Given the description of an element on the screen output the (x, y) to click on. 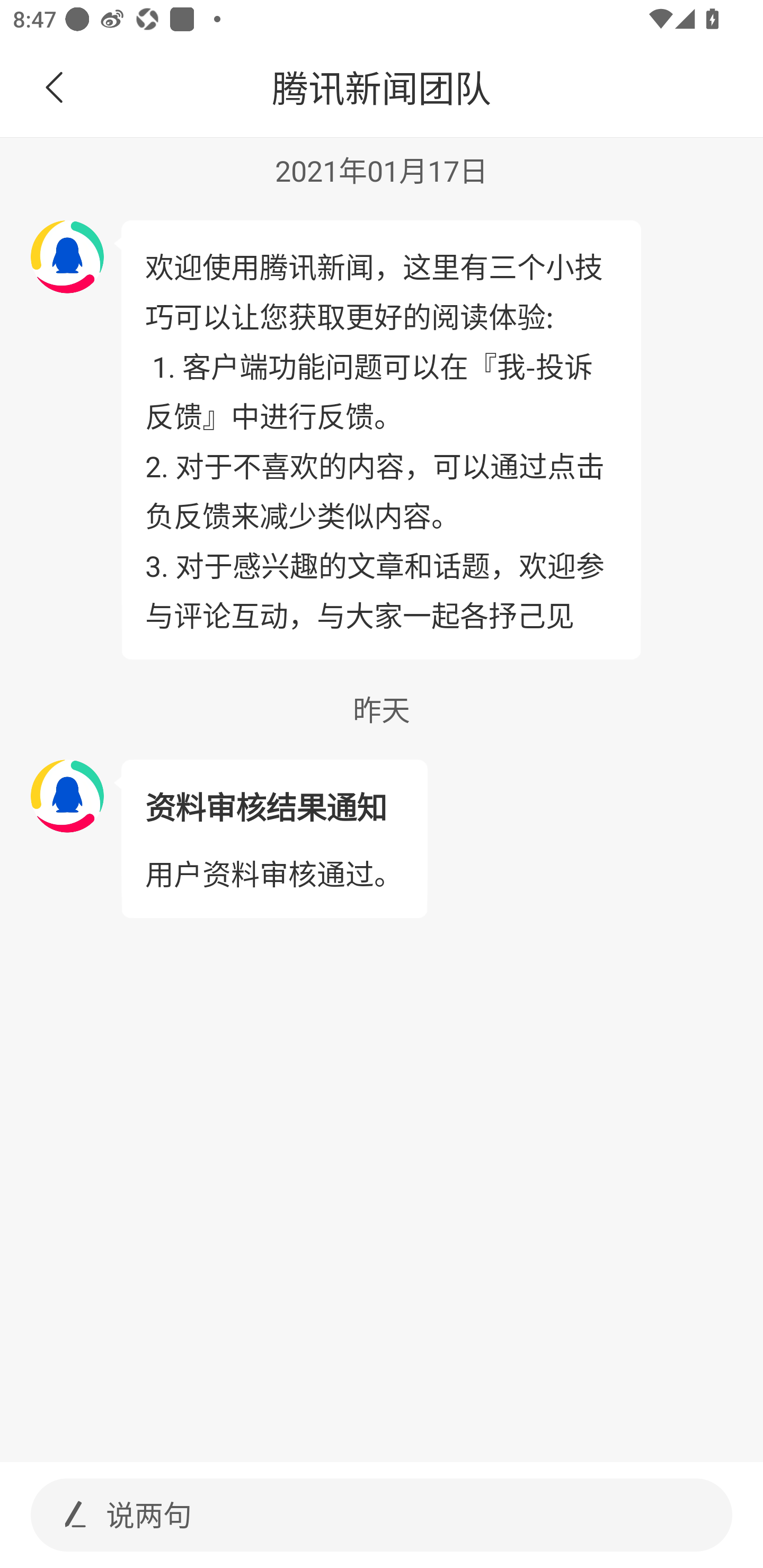
 返回 (54, 87)
资料审核结果通知
用户资料审核通过。 (273, 838)
